Given the description of an element on the screen output the (x, y) to click on. 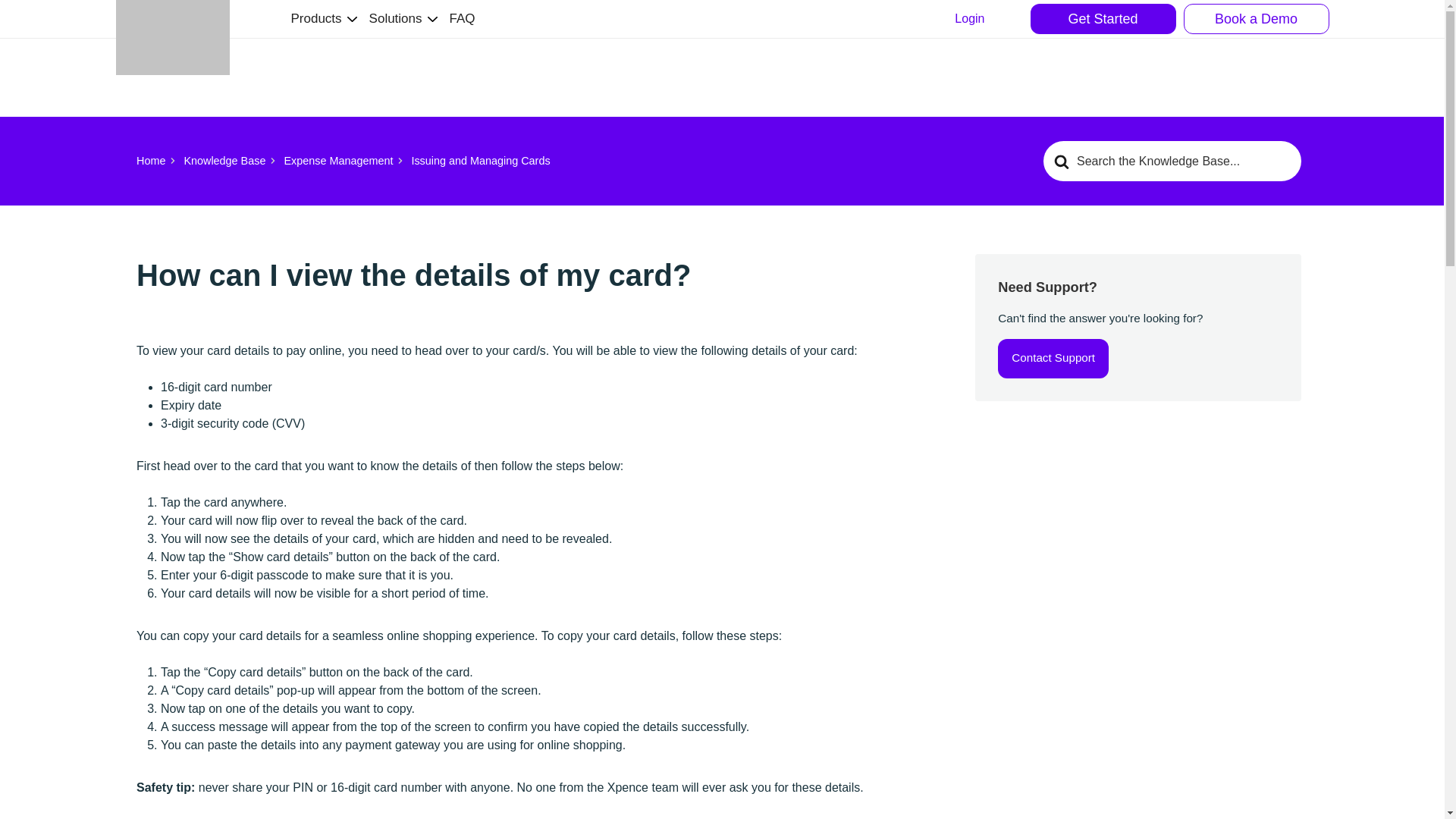
FAQ (462, 18)
Solutions (395, 18)
Products (316, 18)
